Given the description of an element on the screen output the (x, y) to click on. 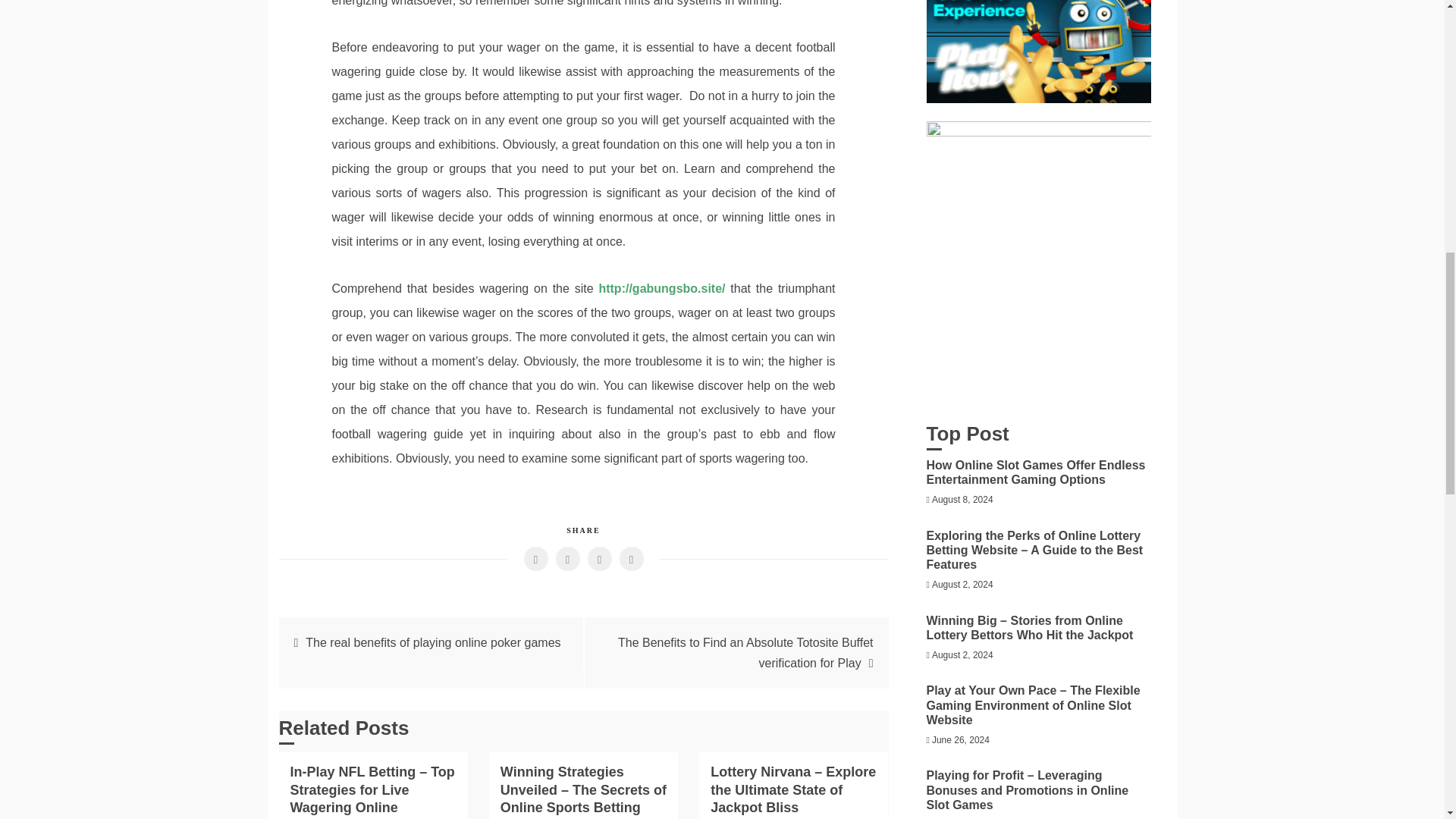
The real benefits of playing online poker games (432, 642)
August 2, 2024 (961, 584)
August 8, 2024 (961, 499)
